Given the description of an element on the screen output the (x, y) to click on. 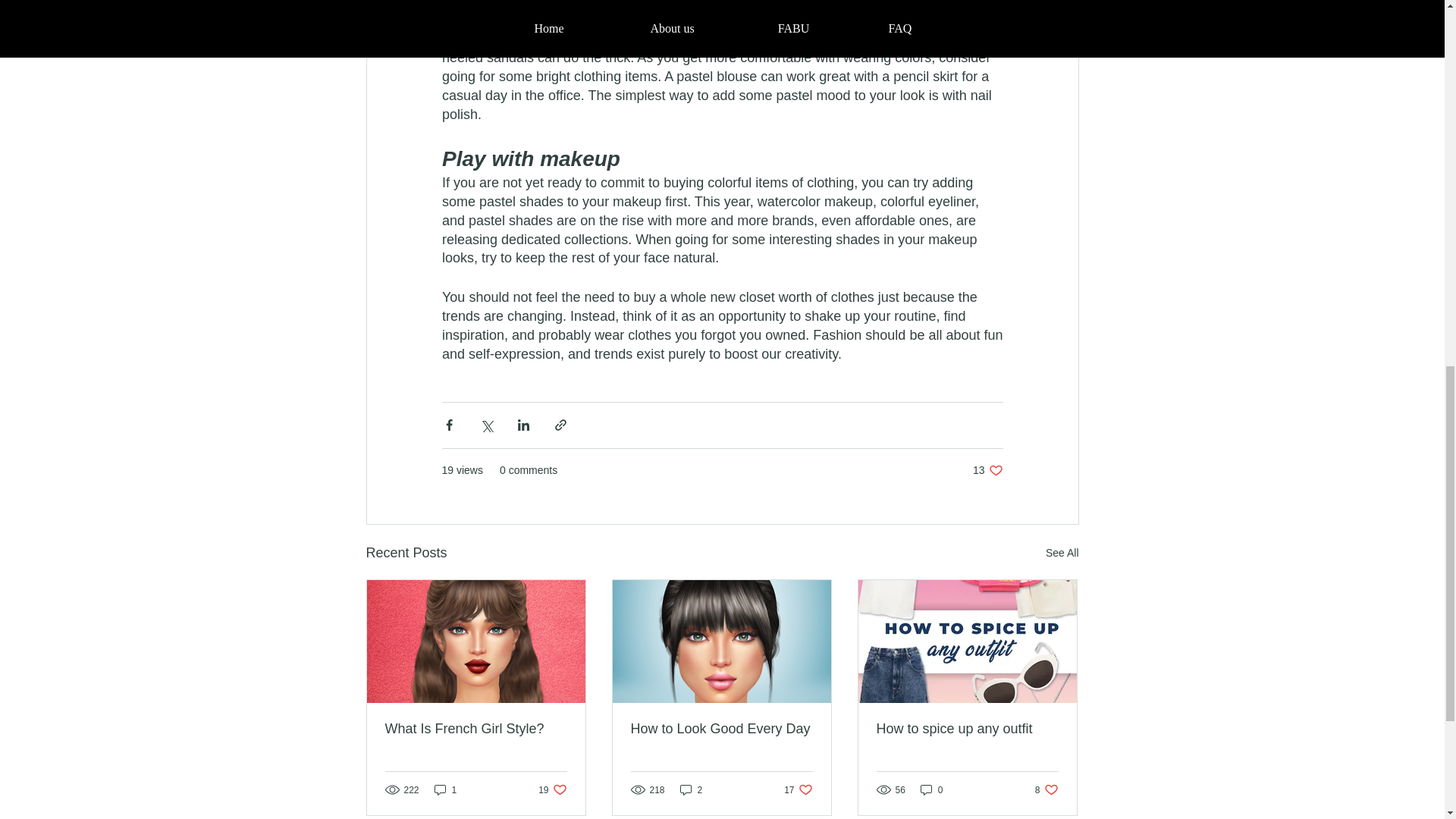
See All (1061, 553)
0 (987, 470)
How to Look Good Every Day (931, 789)
1 (798, 789)
2 (721, 729)
What Is French Girl Style? (445, 789)
How to spice up any outfit (691, 789)
